Given the description of an element on the screen output the (x, y) to click on. 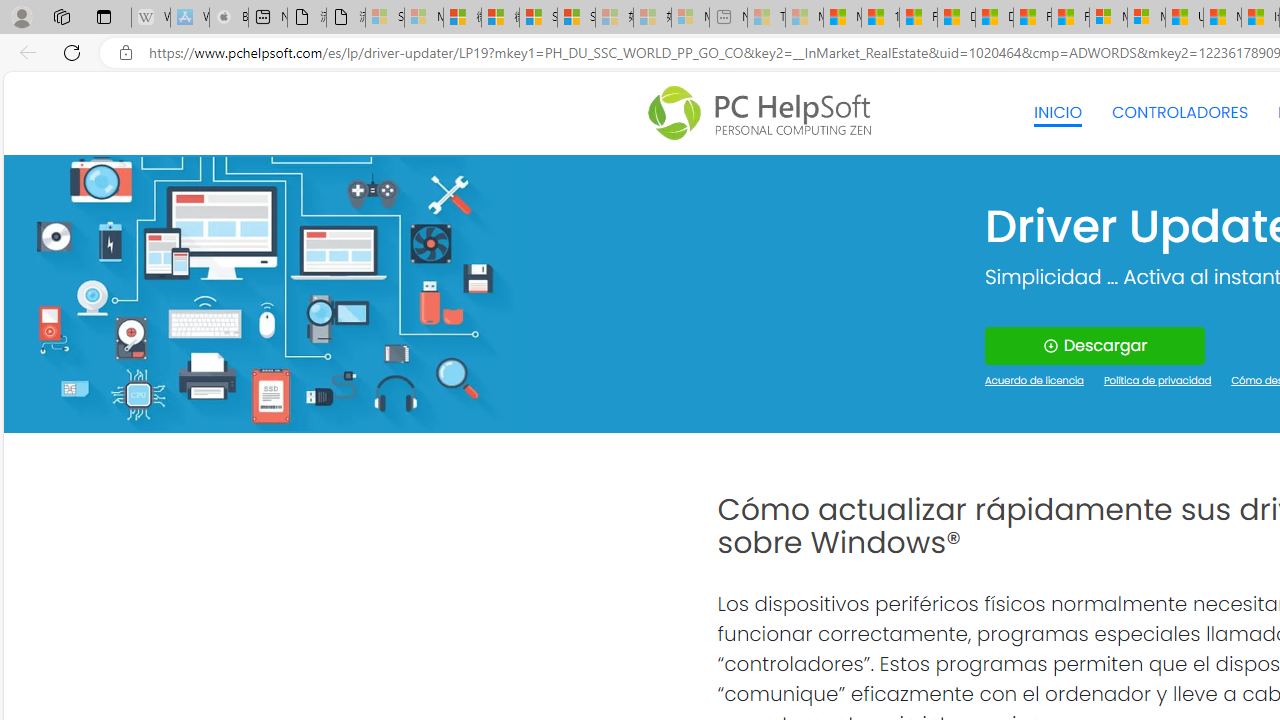
Logo Personal Computing (765, 113)
New tab - Sleeping (728, 17)
Microsoft account | Account Checkup - Sleeping (690, 17)
Buy iPad - Apple - Sleeping (228, 17)
Food and Drink - MSN (917, 17)
Top Stories - MSN - Sleeping (765, 17)
CONTROLADORES (1180, 112)
CONTROLADORES (1180, 112)
